Given the description of an element on the screen output the (x, y) to click on. 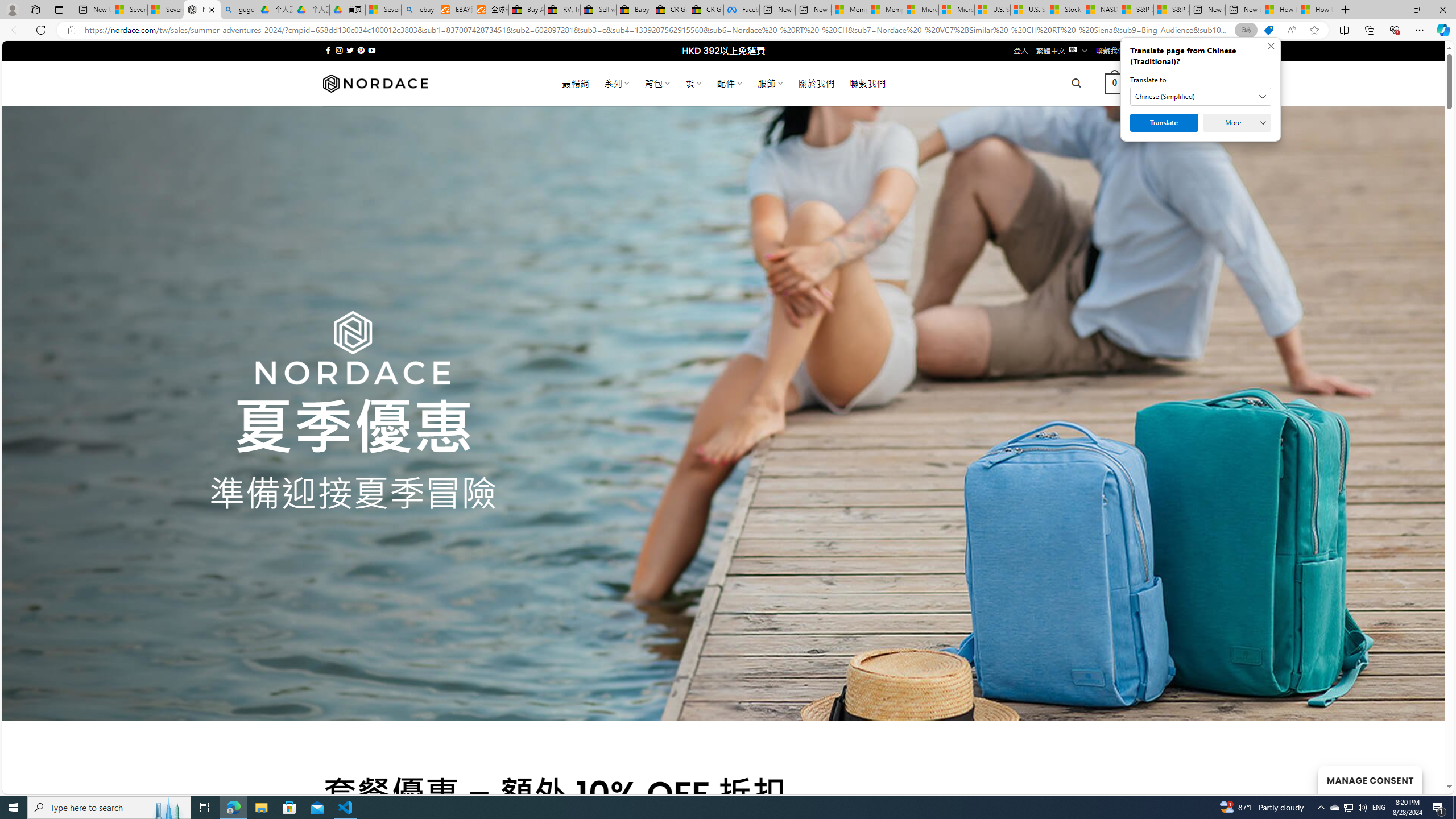
App bar (728, 29)
S&P 500, Nasdaq end lower, weighed by Nvidia dip | Watch (1170, 9)
Follow on YouTube (371, 50)
Nordace (374, 83)
Minimize (1390, 9)
Baby Keepsakes & Announcements for sale | eBay (633, 9)
Follow on Facebook (327, 50)
